Given the description of an element on the screen output the (x, y) to click on. 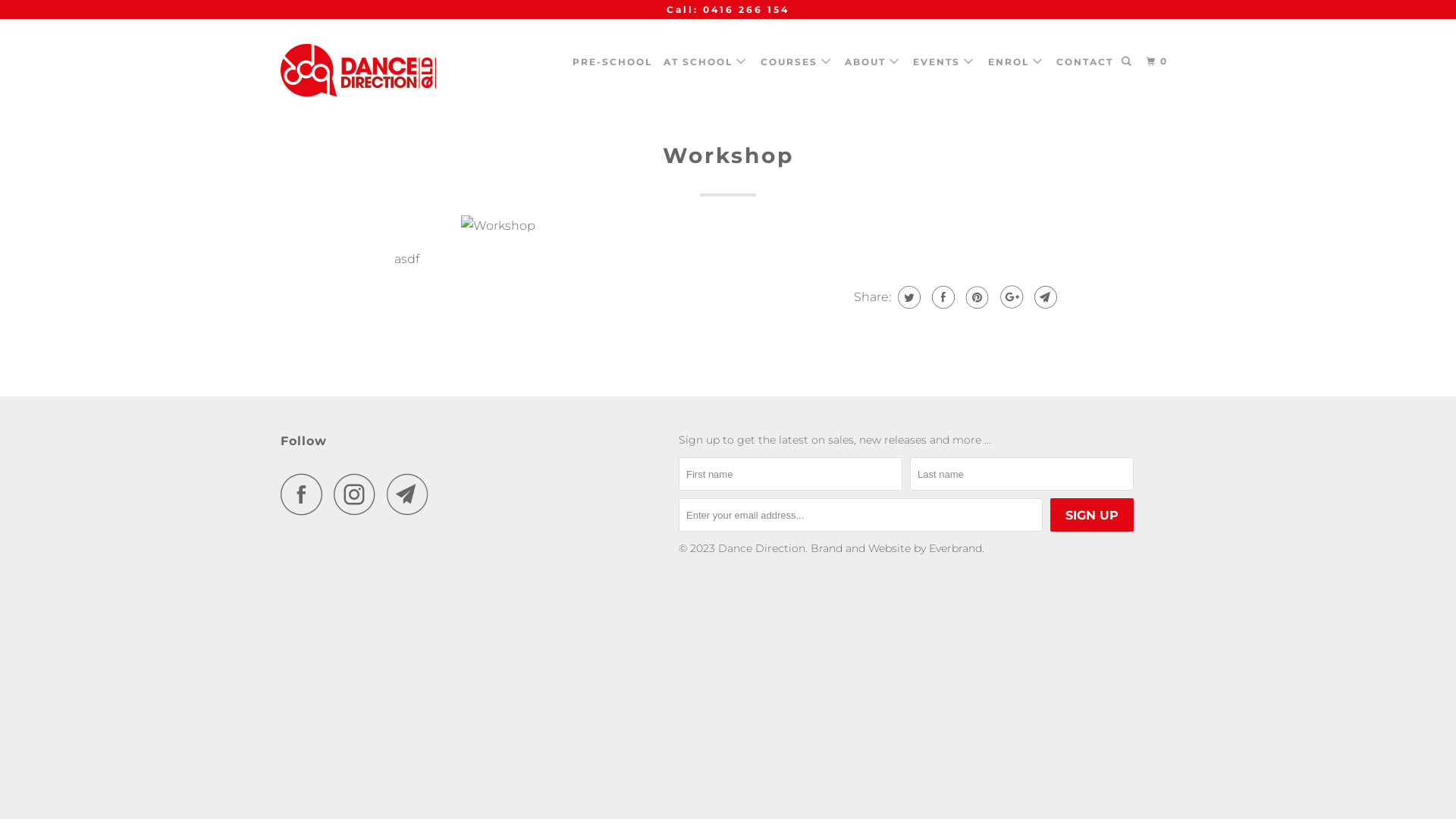
Share this on Twitter Element type: hover (907, 296)
Search Element type: hover (1127, 61)
Email Dance Direction Element type: hover (411, 493)
AT SCHOOL Element type: text (705, 61)
PRE-SCHOOL Element type: text (612, 62)
COURSES Element type: text (796, 61)
Share this on Google+ Element type: hover (1009, 296)
EVENTS Element type: text (944, 61)
Dance Direction on Facebook Element type: hover (305, 493)
ABOUT Element type: text (872, 61)
Dance Direction on Instagram Element type: hover (358, 493)
ENROL Element type: text (1016, 61)
Share this on Facebook Element type: hover (941, 296)
Dance Direction Element type: text (761, 548)
Email this to a friend Element type: hover (1043, 296)
CONTACT Element type: text (1084, 62)
Sign Up Element type: text (1091, 514)
Share this on Pinterest Element type: hover (975, 296)
Dance Direction Element type: hover (358, 73)
0 Element type: text (1157, 61)
